Given the description of an element on the screen output the (x, y) to click on. 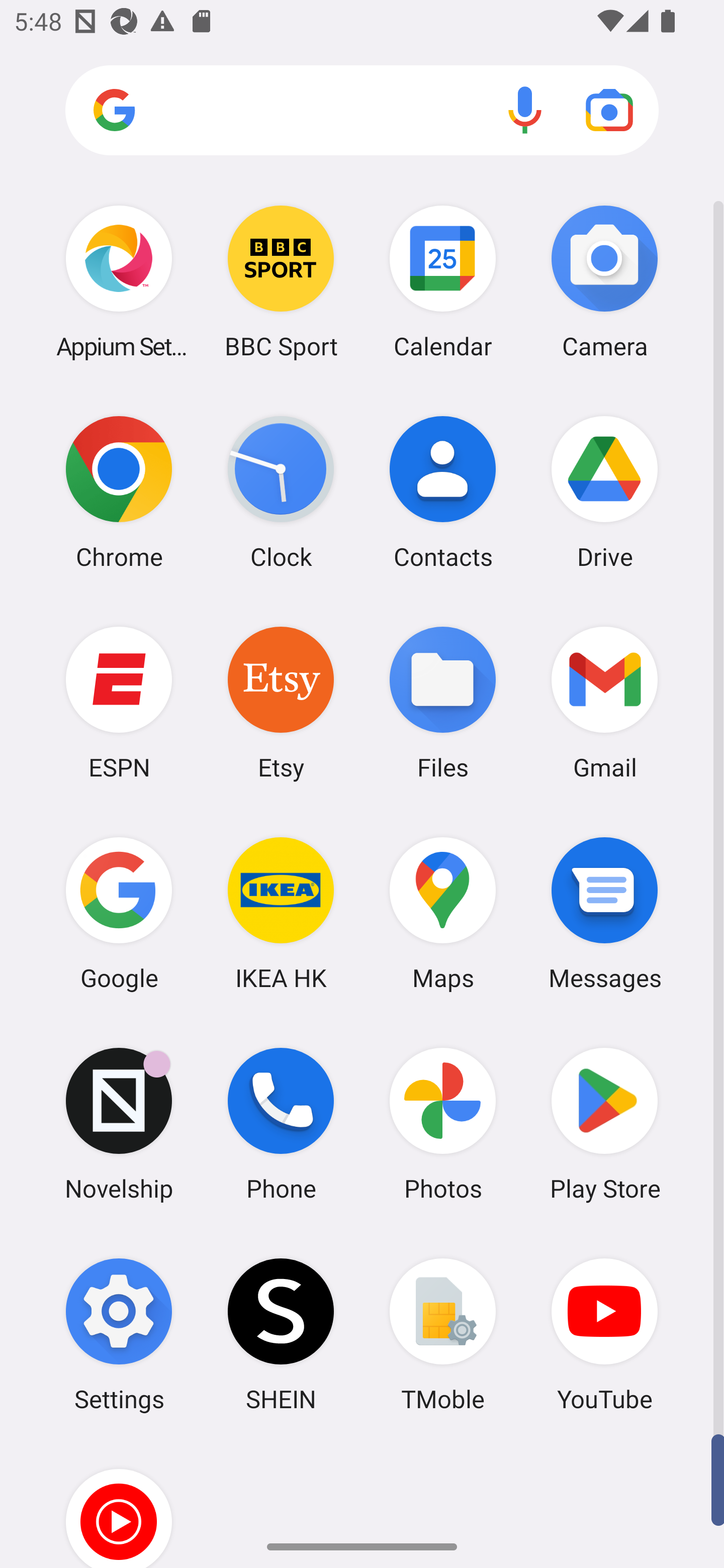
Search apps, web and more (361, 110)
Voice search (524, 109)
Google Lens (608, 109)
Appium Settings (118, 281)
BBC Sport (280, 281)
Calendar (443, 281)
Camera (604, 281)
Chrome (118, 492)
Clock (280, 492)
Contacts (443, 492)
Drive (604, 492)
ESPN (118, 702)
Etsy (280, 702)
Files (443, 702)
Gmail (604, 702)
Google (118, 913)
IKEA HK (280, 913)
Maps (443, 913)
Messages (604, 913)
Novelship Novelship has 1 notification (118, 1124)
Phone (280, 1124)
Photos (443, 1124)
Play Store (604, 1124)
Settings (118, 1334)
SHEIN (280, 1334)
TMoble (443, 1334)
YouTube (604, 1334)
YT Music (118, 1503)
